Given the description of an element on the screen output the (x, y) to click on. 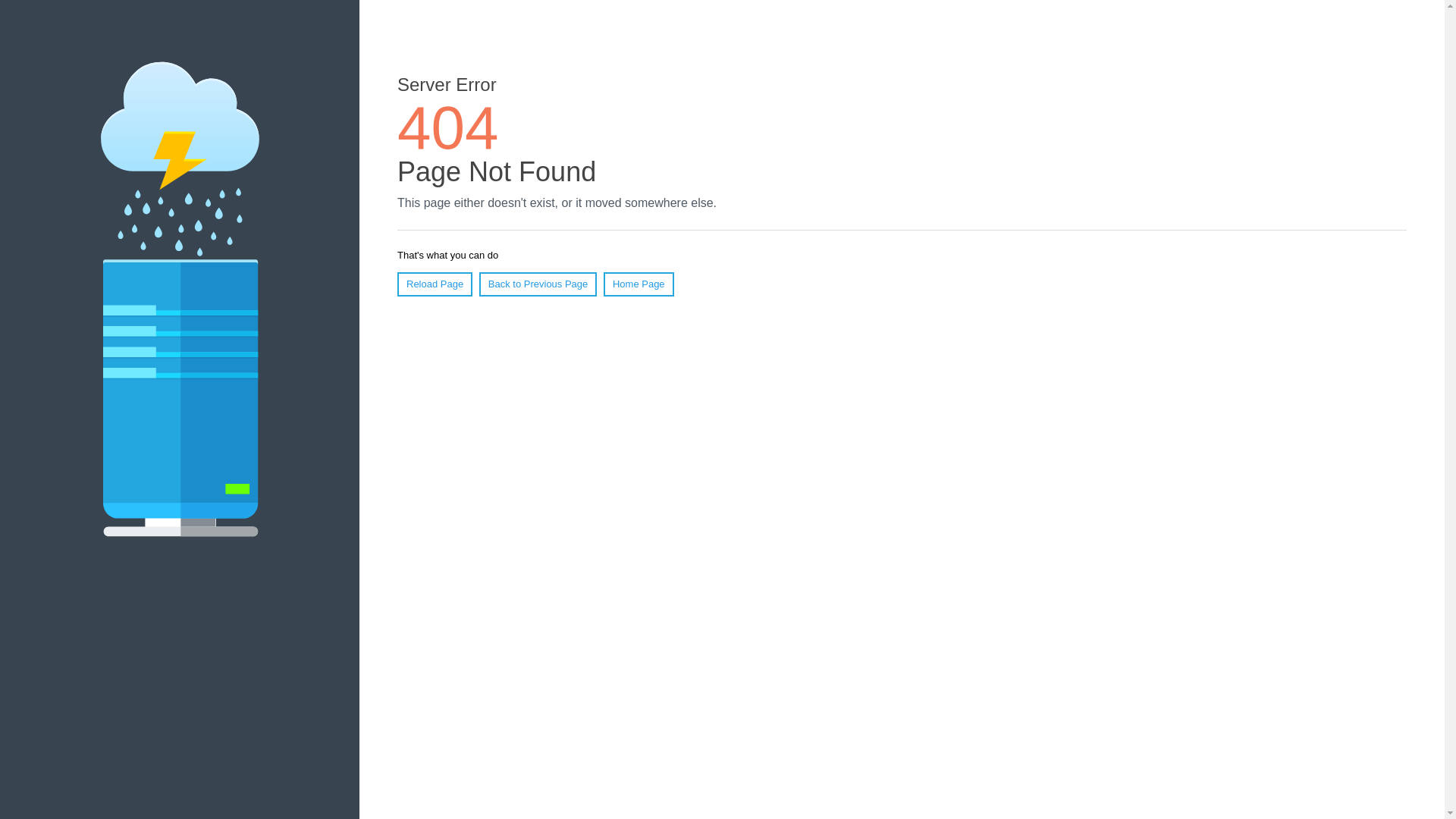
Home Page Element type: text (638, 284)
Back to Previous Page Element type: text (538, 284)
Reload Page Element type: text (434, 284)
